Given the description of an element on the screen output the (x, y) to click on. 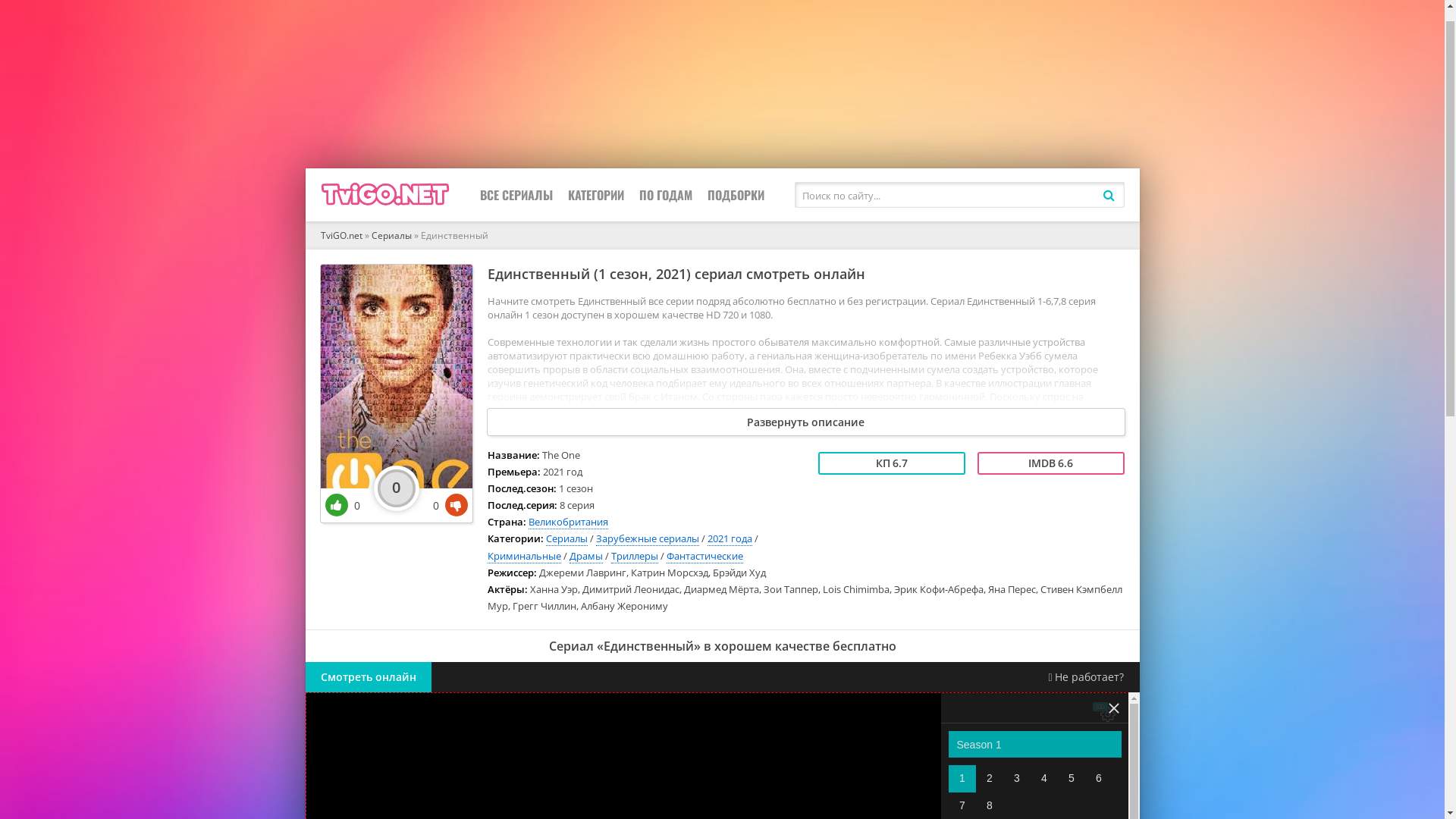
0 Element type: text (449, 526)
0 Element type: text (341, 526)
TviGO.net Element type: text (340, 256)
